Given the description of an element on the screen output the (x, y) to click on. 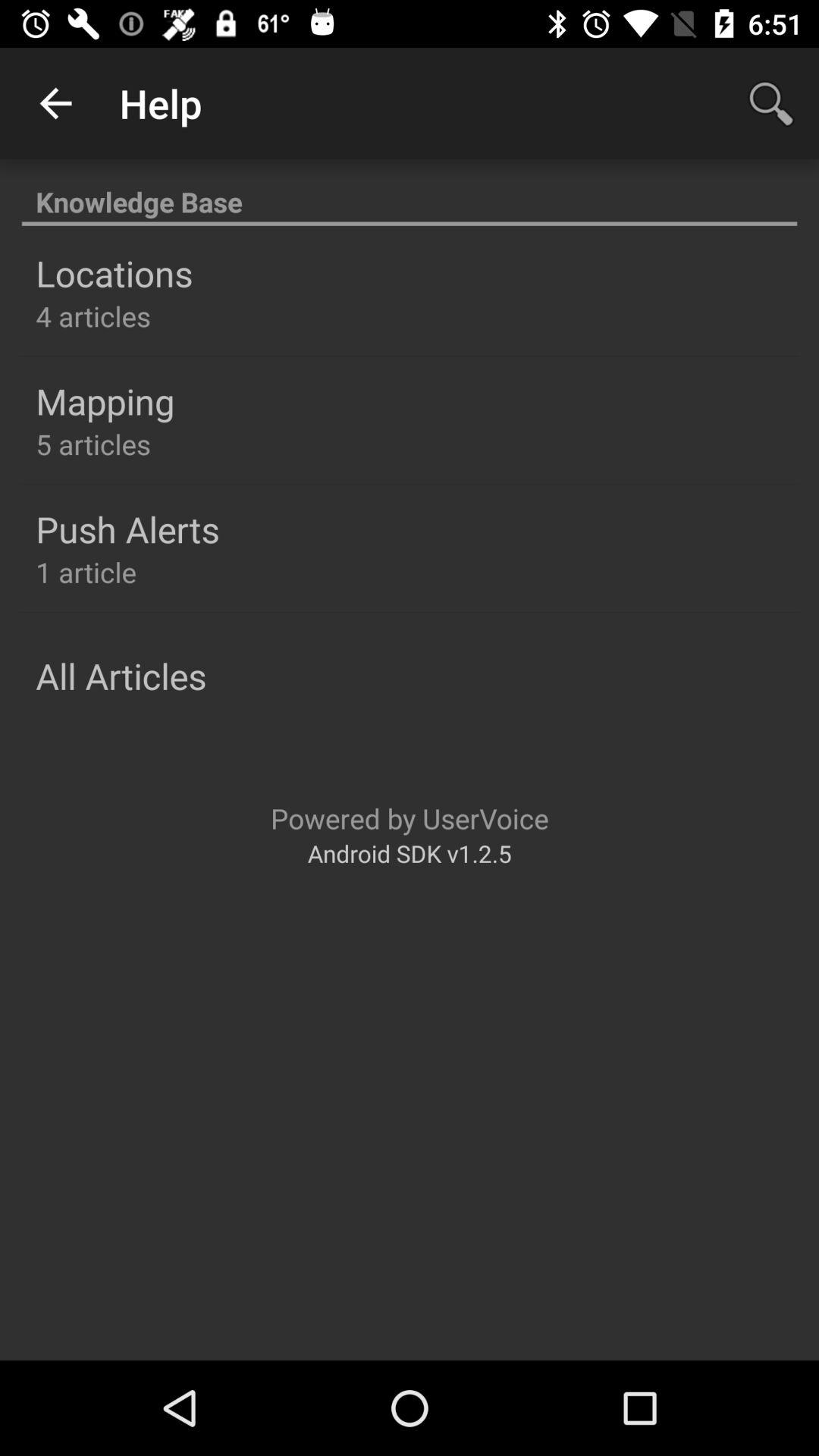
jump until the push alerts (127, 529)
